Given the description of an element on the screen output the (x, y) to click on. 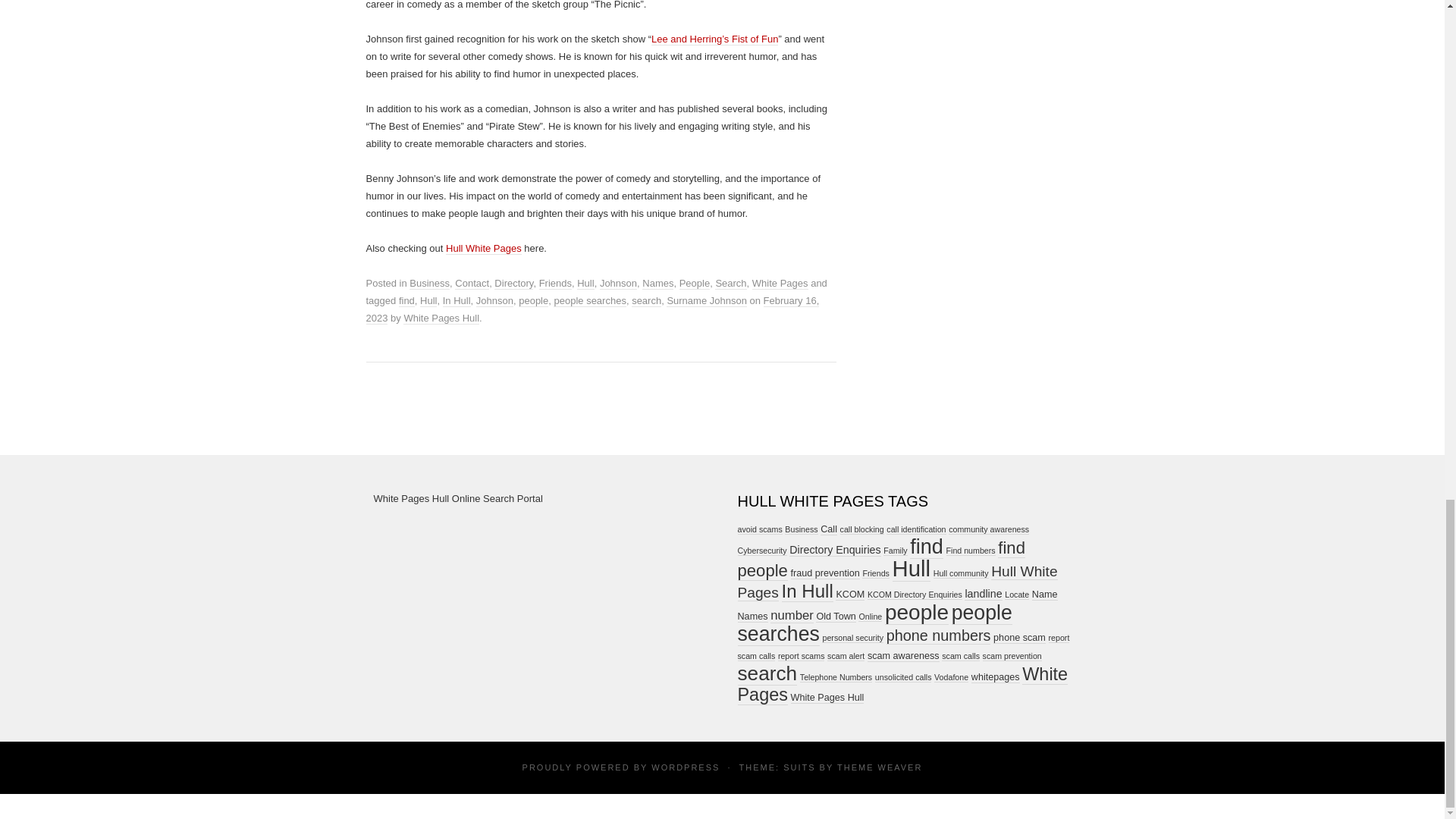
Semantic Personal Publishing Platform (684, 767)
community awareness (989, 529)
Search (729, 283)
February 16, 2023 (591, 309)
View all posts by White Pages Hull (441, 318)
Directory (513, 283)
People (694, 283)
find (406, 300)
Call (829, 529)
call blocking (861, 529)
